Given the description of an element on the screen output the (x, y) to click on. 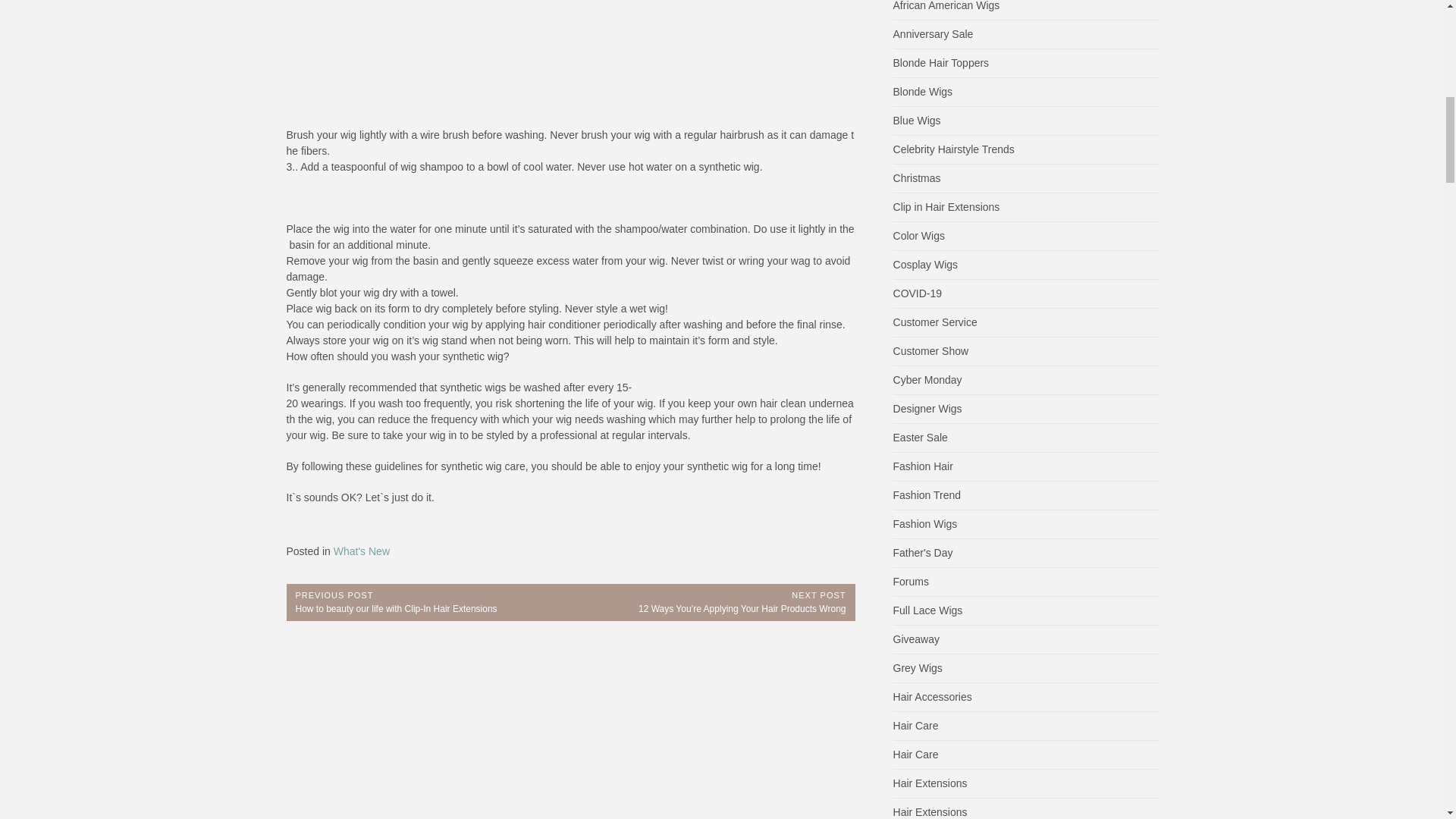
Blonde Wigs (923, 91)
Celebrity Hairstyle Trends (953, 149)
Customer Service (934, 322)
Anniversary Sale (933, 33)
COVID-19 (917, 293)
Clip in Hair Extensions (946, 206)
Blonde Hair Toppers (941, 62)
African American Wigs (946, 5)
What's New (361, 551)
Blue Wigs (916, 120)
Christmas (916, 177)
Color Wigs (918, 235)
Cosplay Wigs (925, 264)
